Given the description of an element on the screen output the (x, y) to click on. 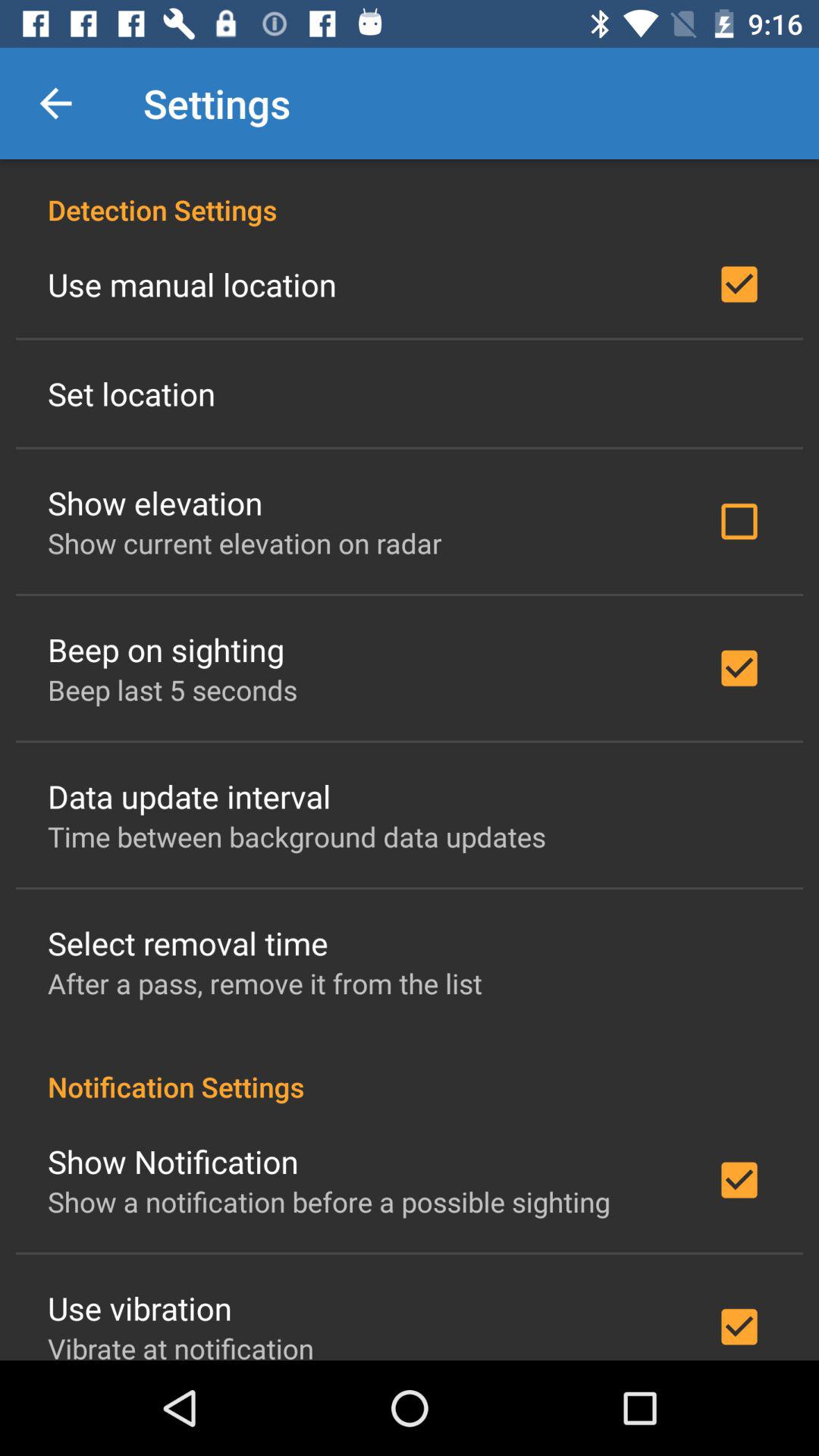
launch after a pass (264, 983)
